Given the description of an element on the screen output the (x, y) to click on. 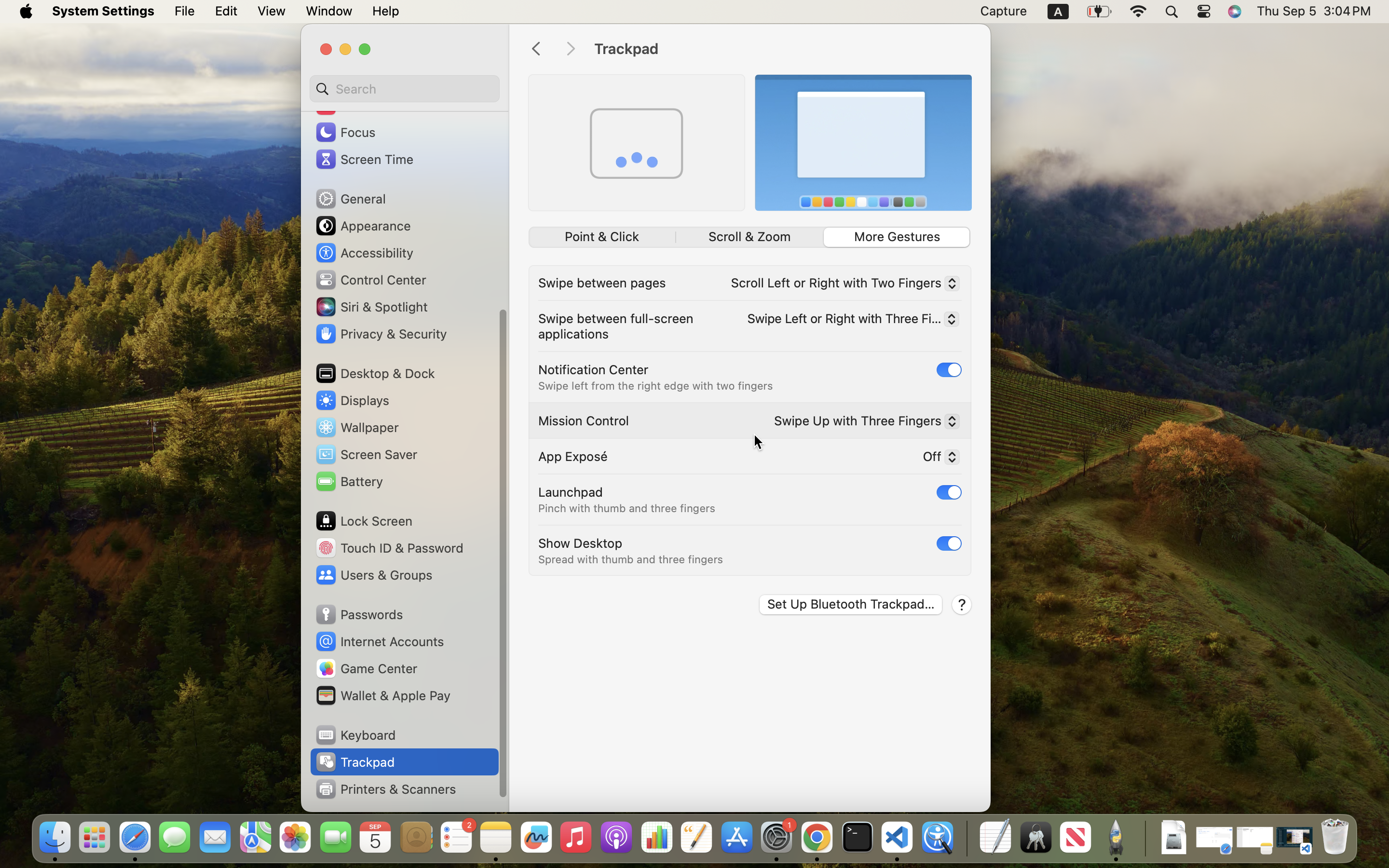
Off Element type: AXPopUpButton (936, 458)
Printers & Scanners Element type: AXStaticText (385, 788)
Trackpad Element type: AXStaticText (782, 49)
Wallet & Apple Pay Element type: AXStaticText (382, 694)
